Given the description of an element on the screen output the (x, y) to click on. 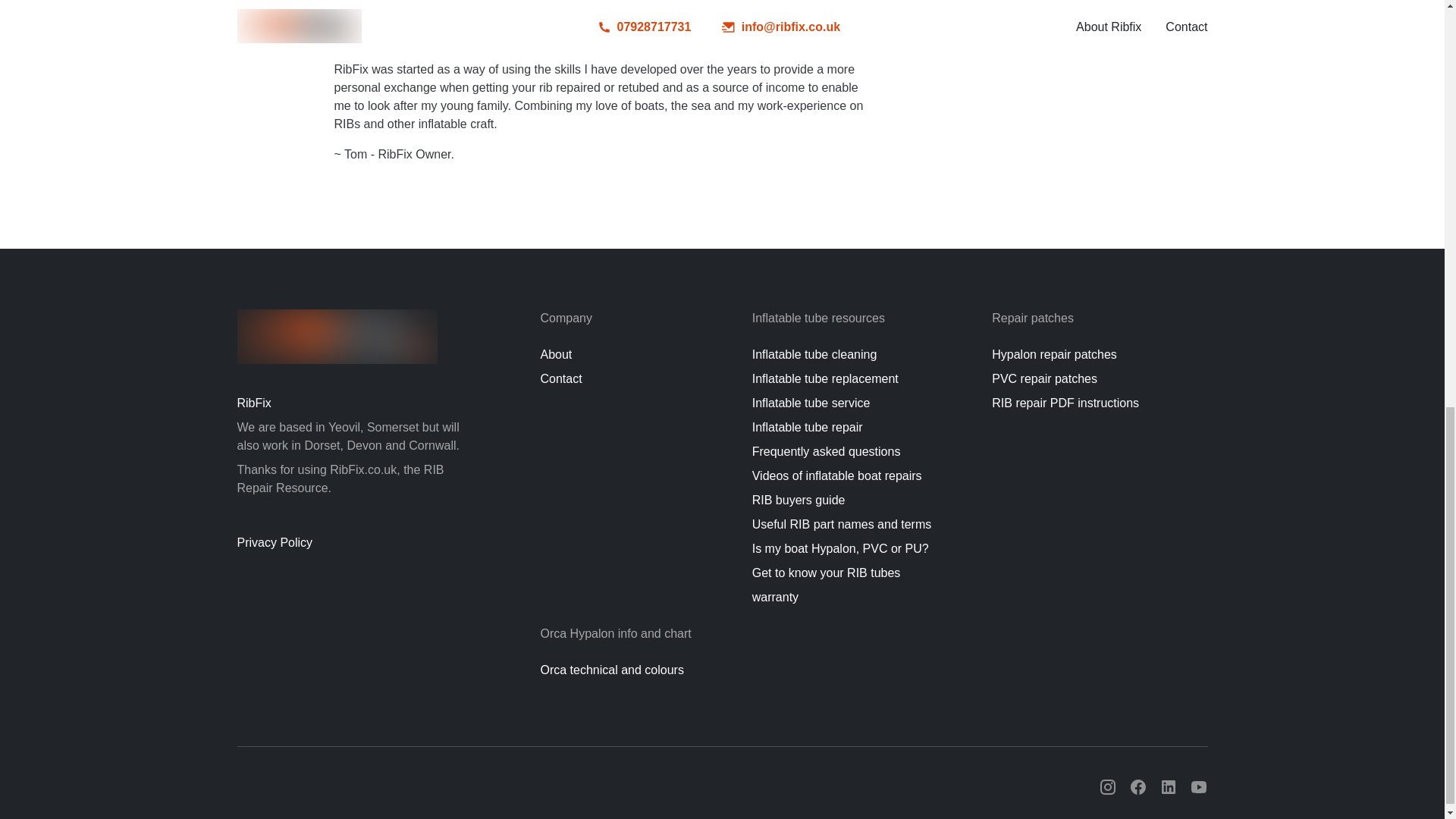
Inflatable tube replacement (825, 378)
Orca technical and colours (611, 669)
Frequently asked questions (826, 451)
Privacy Policy (357, 542)
Inflatable tube service (811, 402)
RIB buyers guide (798, 499)
Contact (560, 378)
Hypalon repair patches (1053, 354)
Inflatable tube cleaning (814, 354)
Inflatable tube repair (807, 427)
About (556, 354)
Useful RIB part names and terms (841, 523)
Home (335, 336)
Videos of inflatable boat repairs (836, 475)
PVC repair patches (1044, 378)
